Given the description of an element on the screen output the (x, y) to click on. 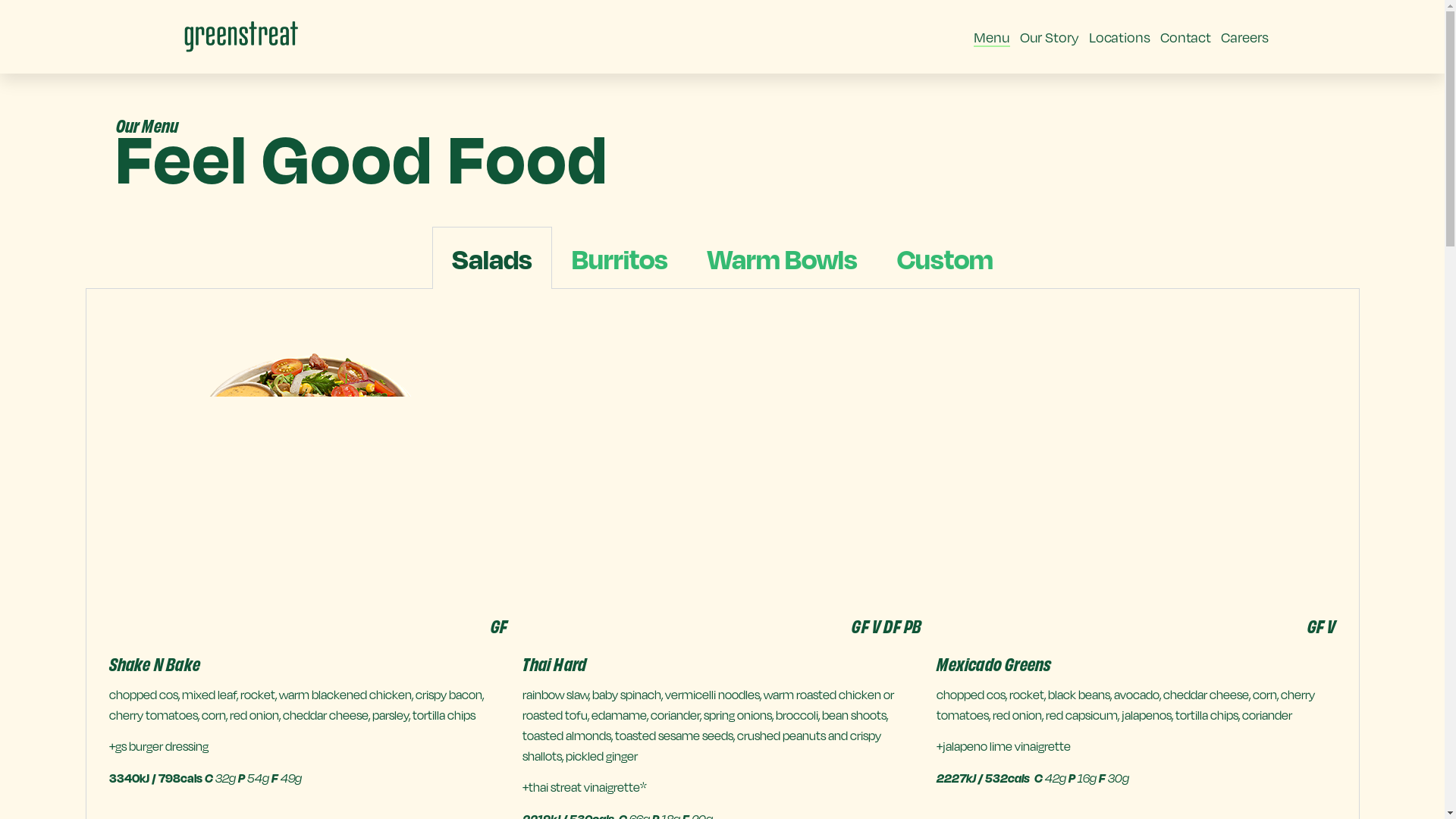
Contact Element type: text (1185, 37)
Our Story Element type: text (1049, 37)
Menu Element type: text (991, 37)
Careers Element type: text (1243, 37)
Locations Element type: text (1119, 37)
